Given the description of an element on the screen output the (x, y) to click on. 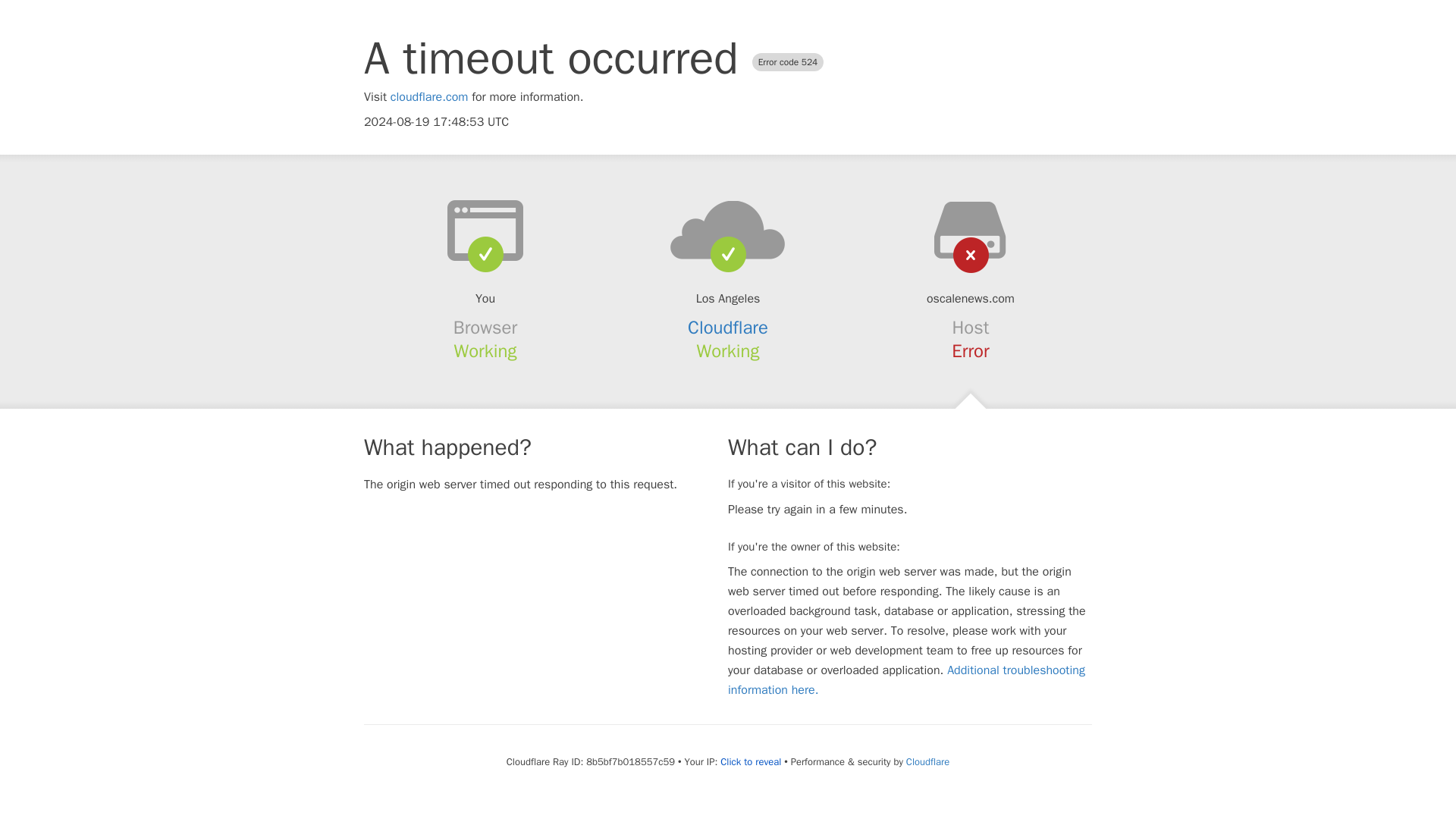
Additional troubleshooting information here. (906, 679)
Cloudflare (927, 761)
Cloudflare (727, 327)
Click to reveal (750, 762)
cloudflare.com (429, 96)
